Given the description of an element on the screen output the (x, y) to click on. 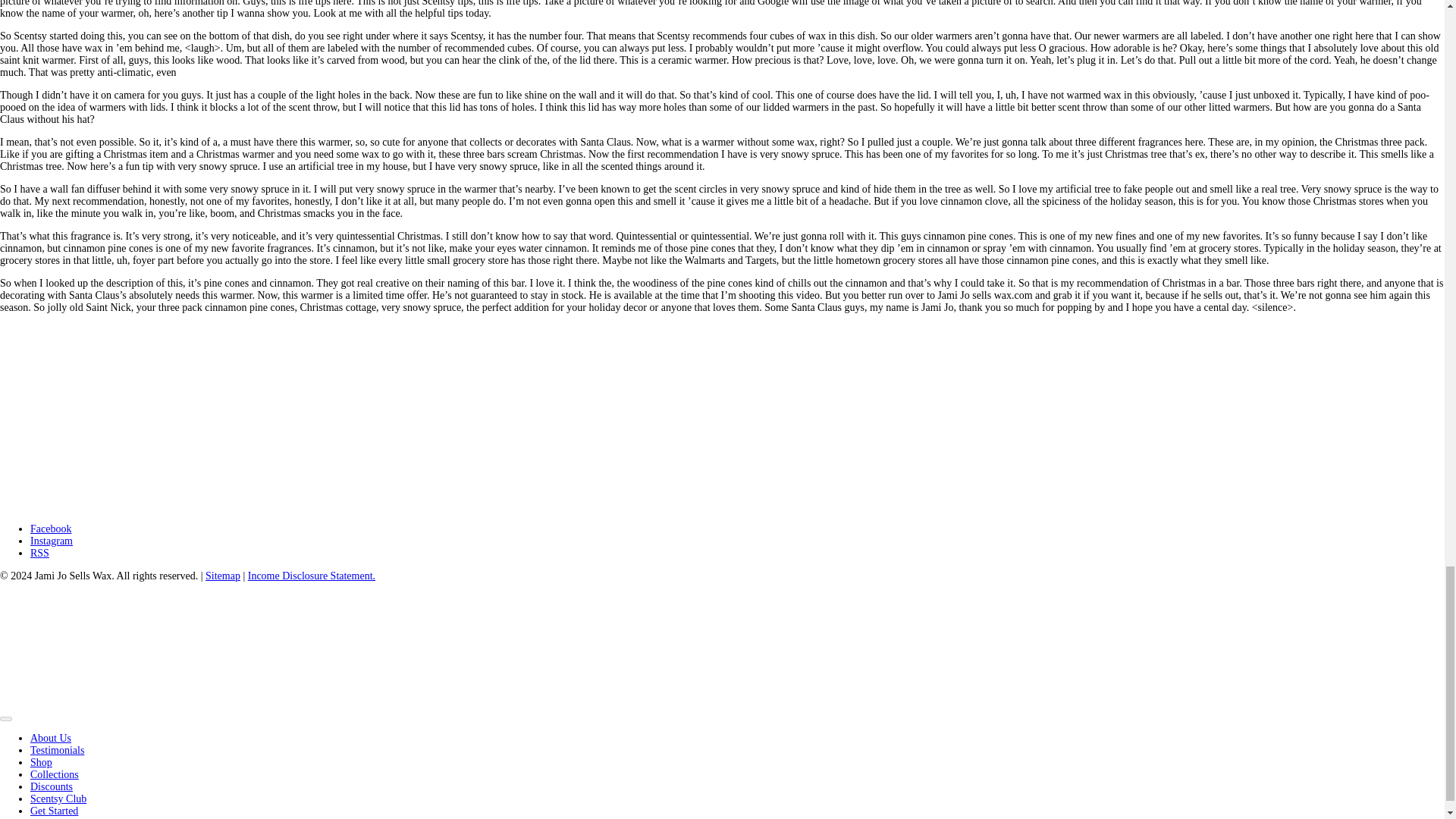
Collections (54, 774)
RSS (39, 552)
About Us (50, 737)
Instagram (51, 541)
Get Started (54, 810)
Discounts (51, 786)
Sitemap (222, 575)
Income Disclosure Statement. (311, 575)
Testimonials (57, 749)
Scentsy Club (57, 798)
Shop (41, 762)
Facebook (50, 528)
